Given the description of an element on the screen output the (x, y) to click on. 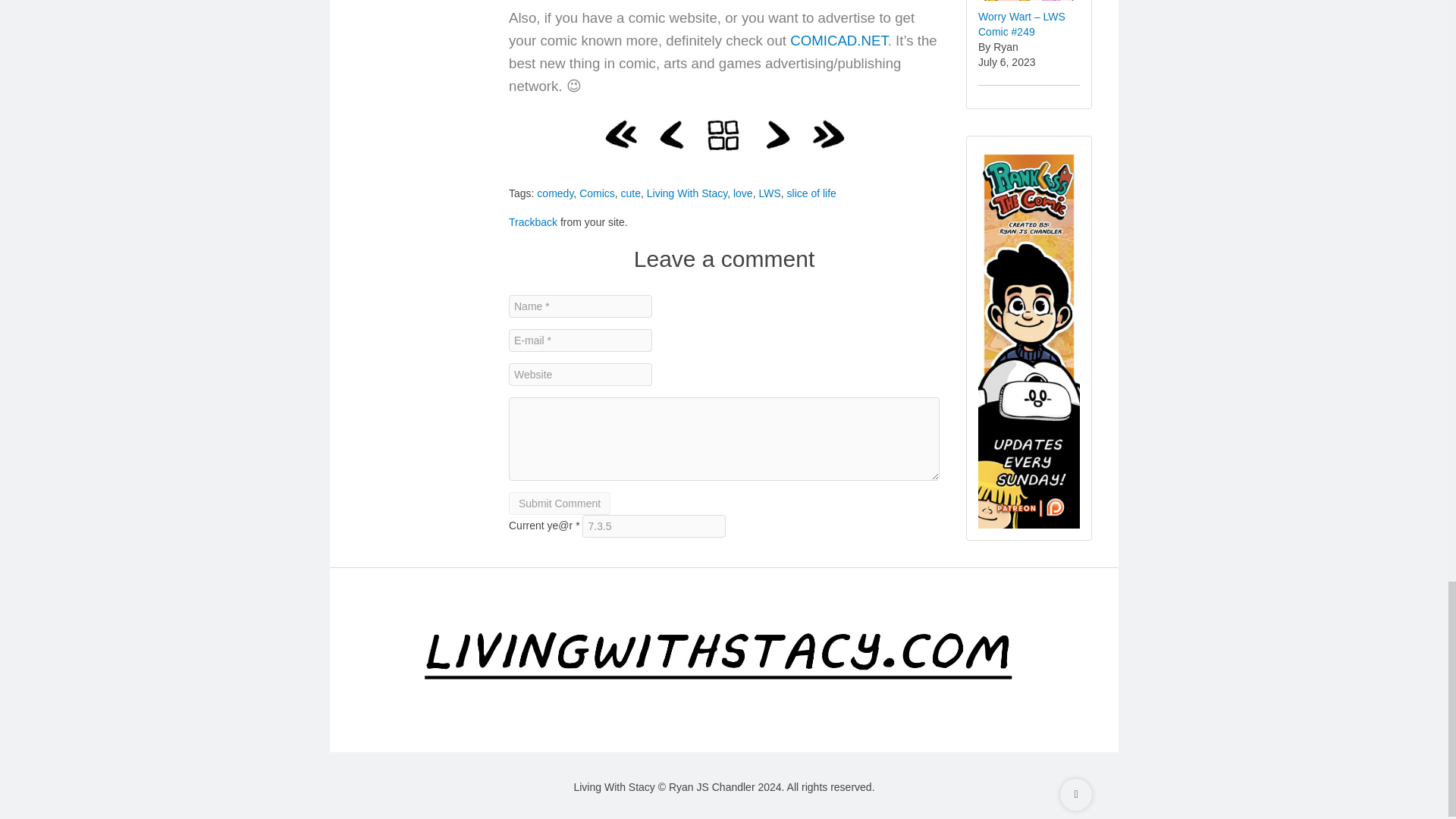
Living With Stacy (686, 193)
Trackback (532, 222)
COMICAD.NET (839, 40)
Comics (596, 193)
7.3.5 (653, 526)
LWS (769, 193)
cute (630, 193)
comedy (555, 193)
slice of life (811, 193)
FIRST COMIC (620, 135)
